Given the description of an element on the screen output the (x, y) to click on. 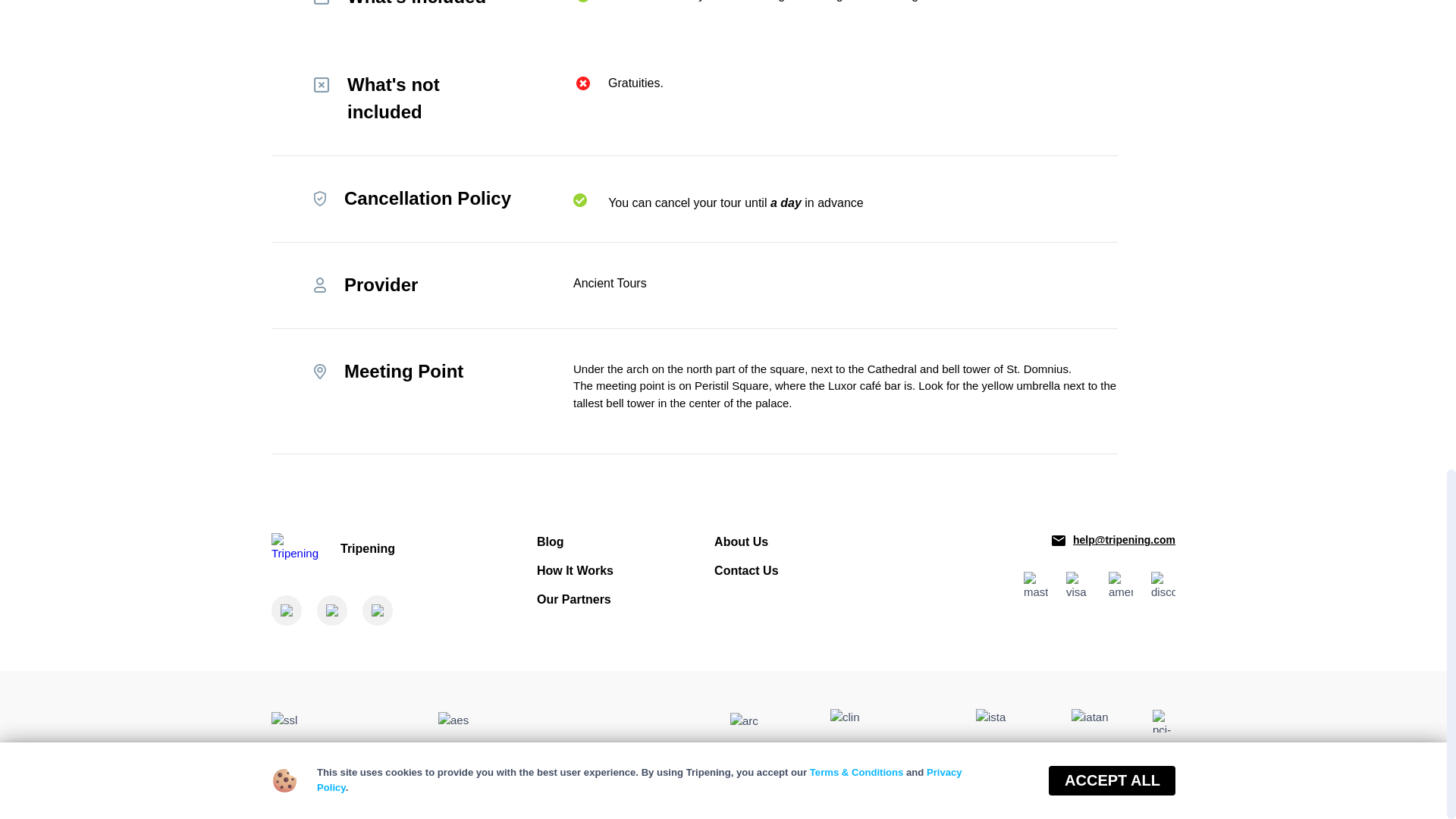
Contact Us (745, 570)
About Us (741, 541)
Blog (550, 541)
Tripening (386, 549)
facebook (285, 610)
How It Works (574, 570)
instagram (377, 610)
Our Partners (574, 599)
twitter (332, 610)
